Given the description of an element on the screen output the (x, y) to click on. 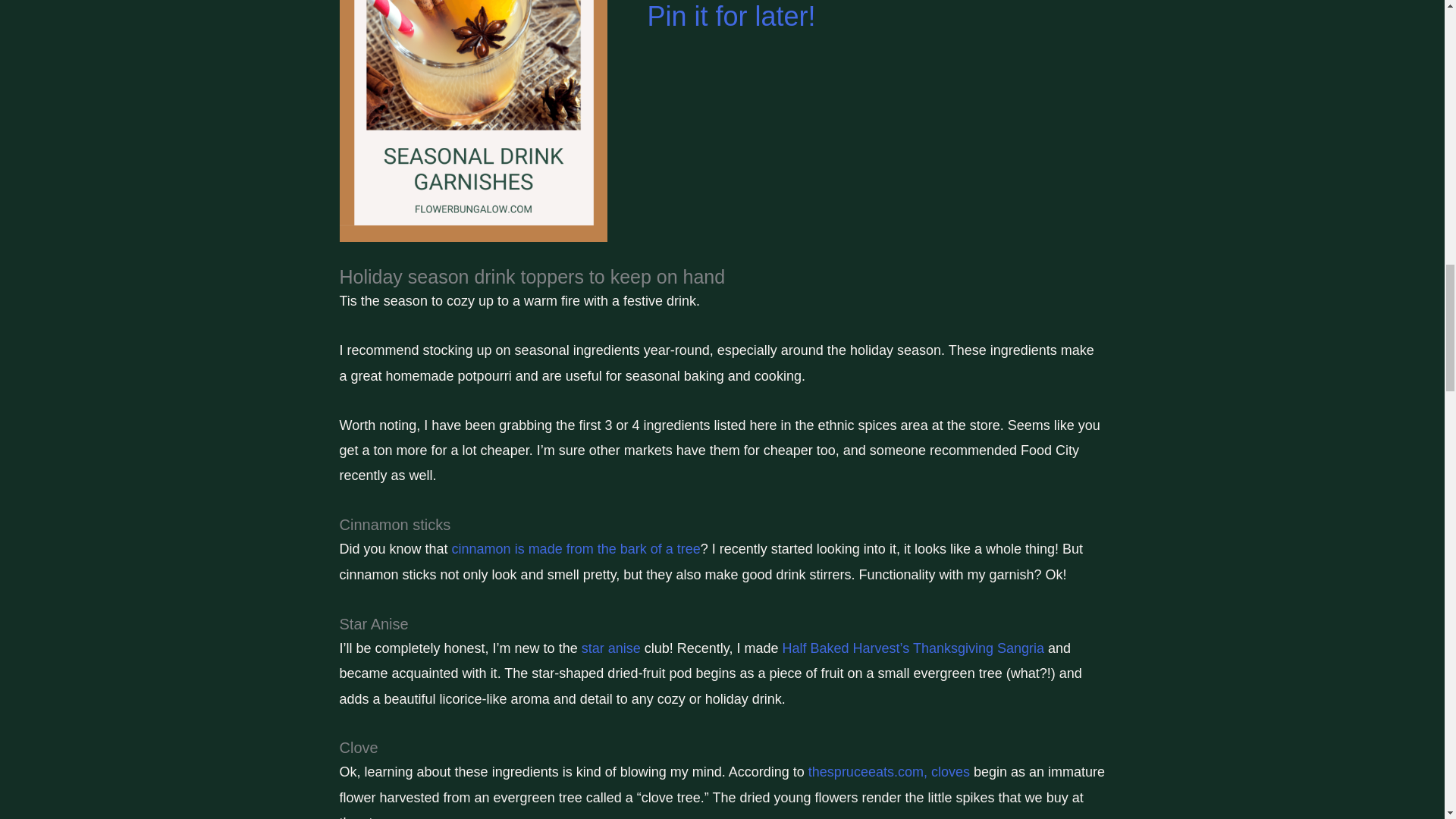
thespruceeats.com, cloves (888, 771)
Pin it for later! (731, 15)
star anise (610, 648)
cinnamon is made from the bark of a tree (575, 548)
